Given the description of an element on the screen output the (x, y) to click on. 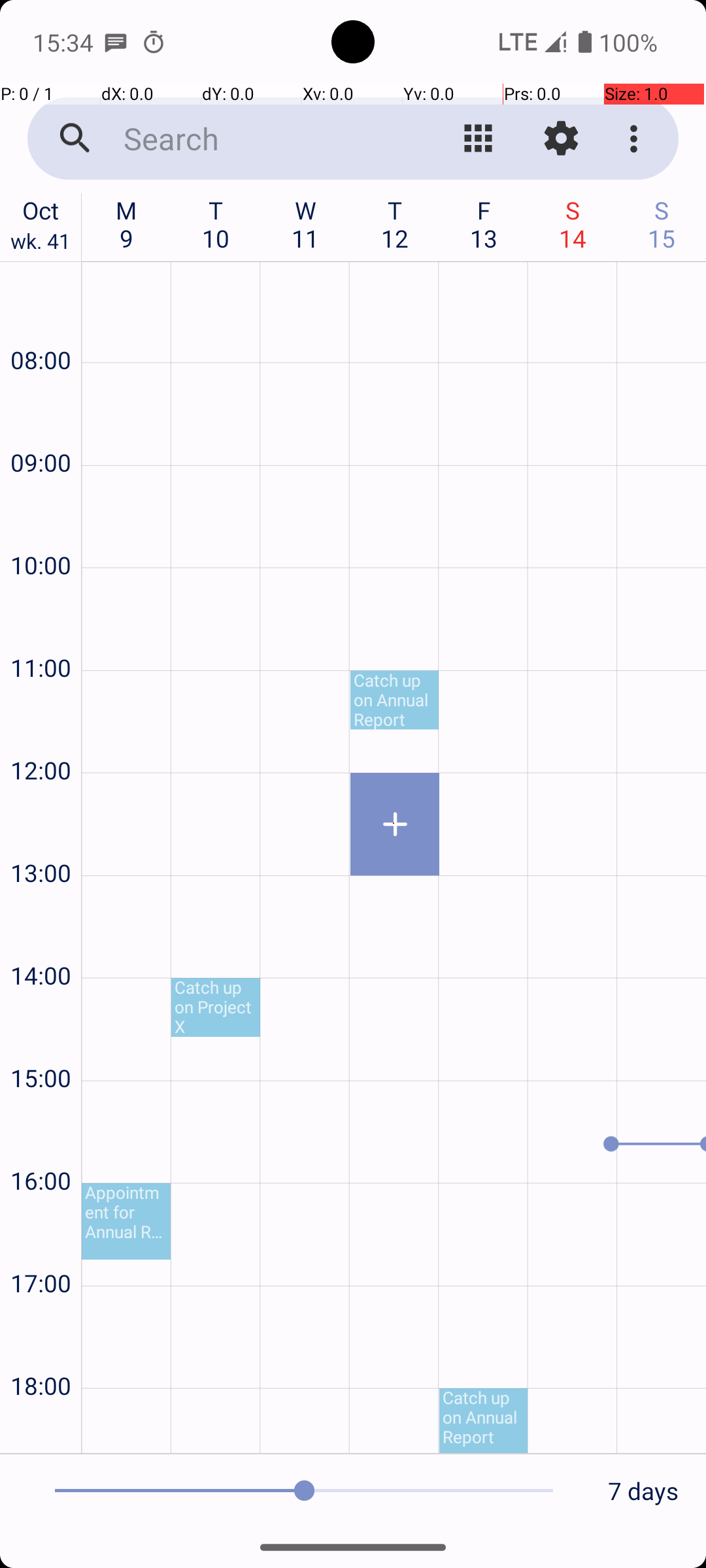
wk. 41 Element type: android.widget.TextView (40, 243)
7 days Element type: android.widget.TextView (642, 1490)
10:00 Element type: android.widget.TextView (40, 529)
14:00 Element type: android.widget.TextView (40, 940)
15:00 Element type: android.widget.TextView (40, 1042)
19:00 Element type: android.widget.TextView (40, 1428)
M
9 Element type: android.widget.TextView (126, 223)
T
10 Element type: android.widget.TextView (215, 223)
W
11 Element type: android.widget.TextView (305, 223)
T
12 Element type: android.widget.TextView (394, 223)
F
13 Element type: android.widget.TextView (483, 223)
S
14 Element type: android.widget.TextView (572, 223)
S
15 Element type: android.widget.TextView (661, 223)
Appointment for Annual Report Element type: android.widget.TextView (125, 1221)
